Given the description of an element on the screen output the (x, y) to click on. 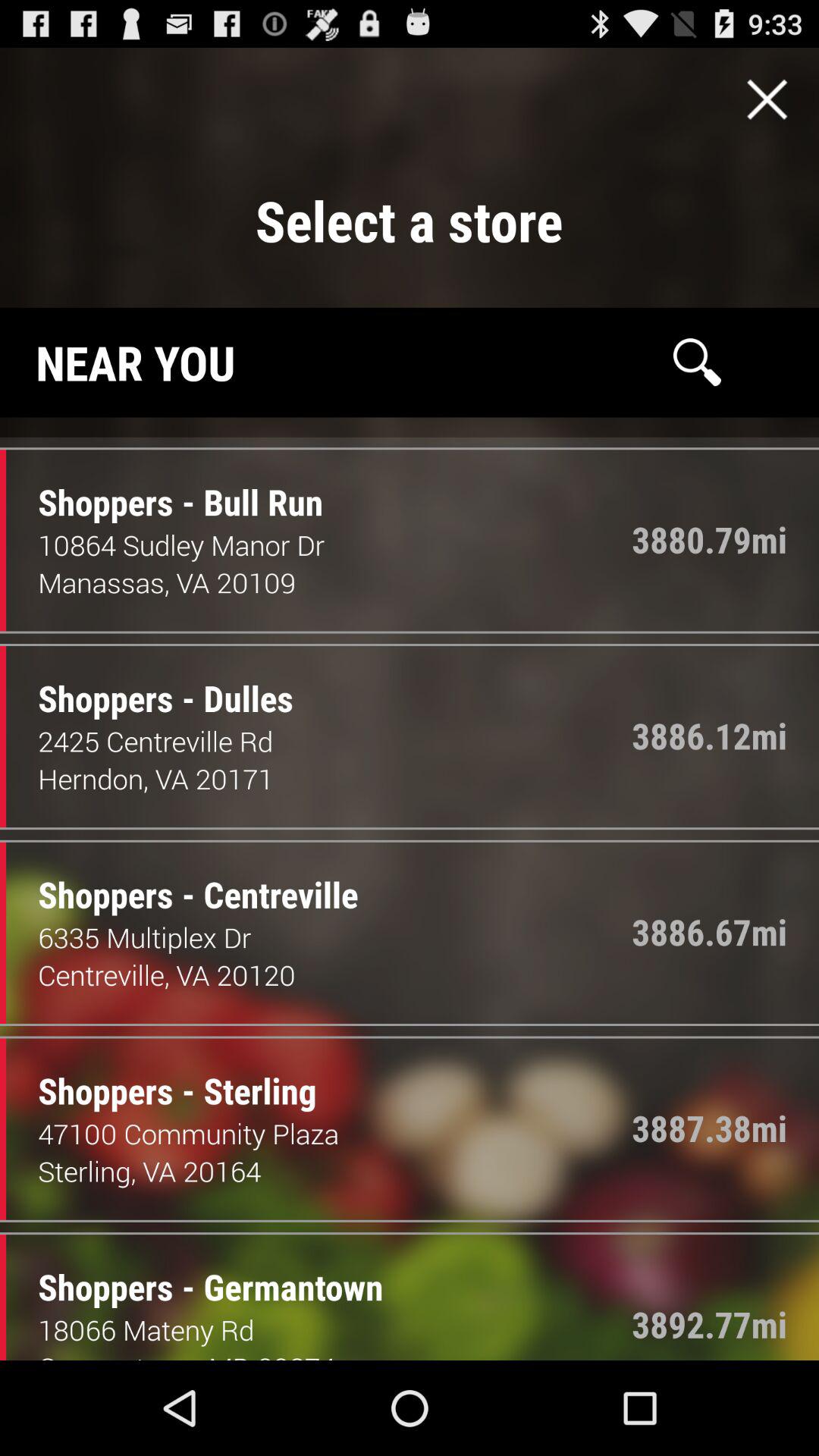
tap icon above the herndon, va 20171 (334, 740)
